Given the description of an element on the screen output the (x, y) to click on. 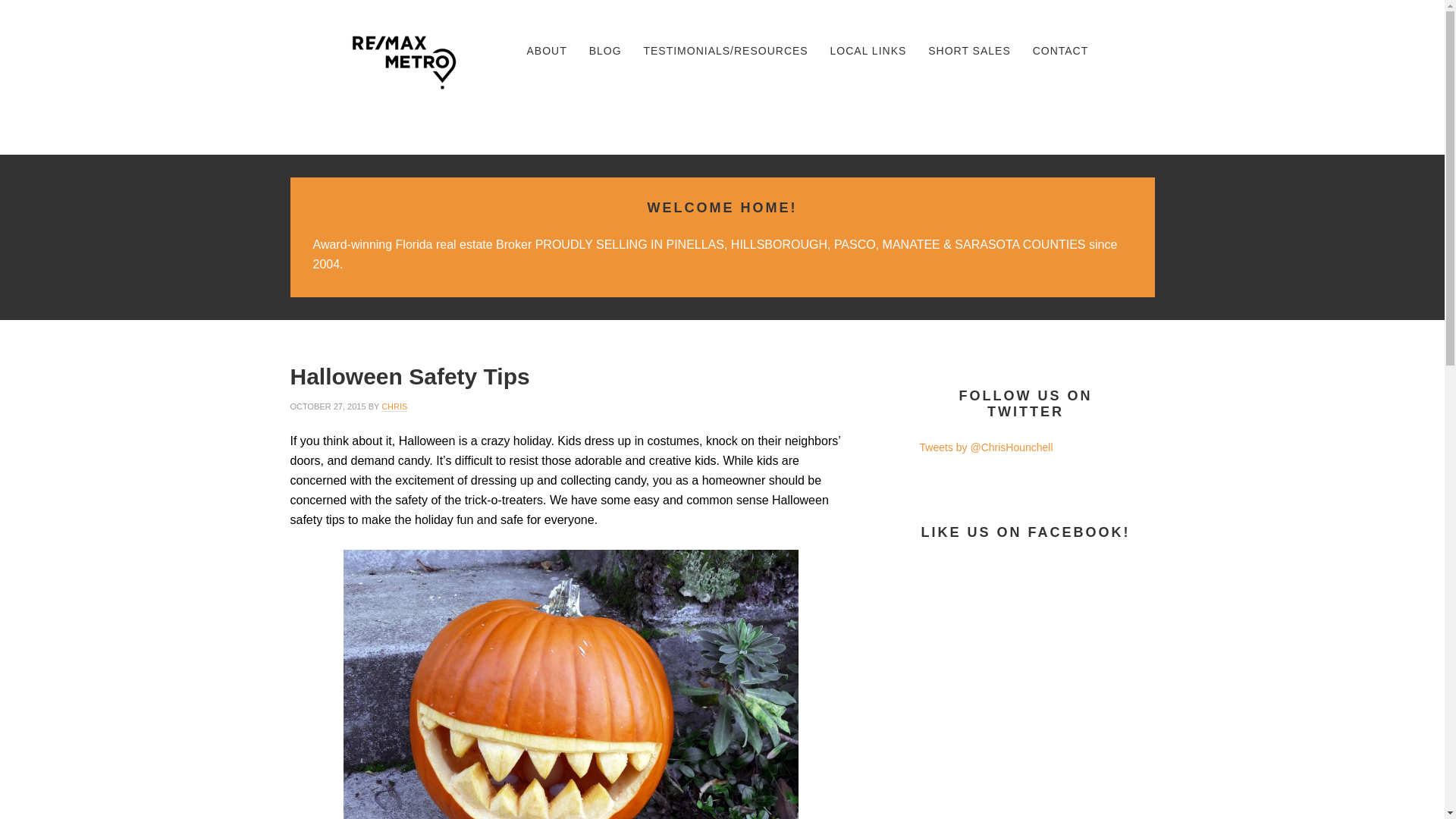
LinkedIn (1082, 98)
BLOG (604, 51)
Facebook (1034, 98)
CHRIS HOUNCHELL REALTOR (402, 62)
Twitter (1130, 98)
Twitter (1131, 98)
LinkedIn (1083, 98)
CHRIS (394, 406)
LOCAL LINKS (868, 51)
ABOUT (545, 51)
SHORT SALES (969, 51)
Facebook (1035, 98)
CONTACT (1060, 51)
